Given the description of an element on the screen output the (x, y) to click on. 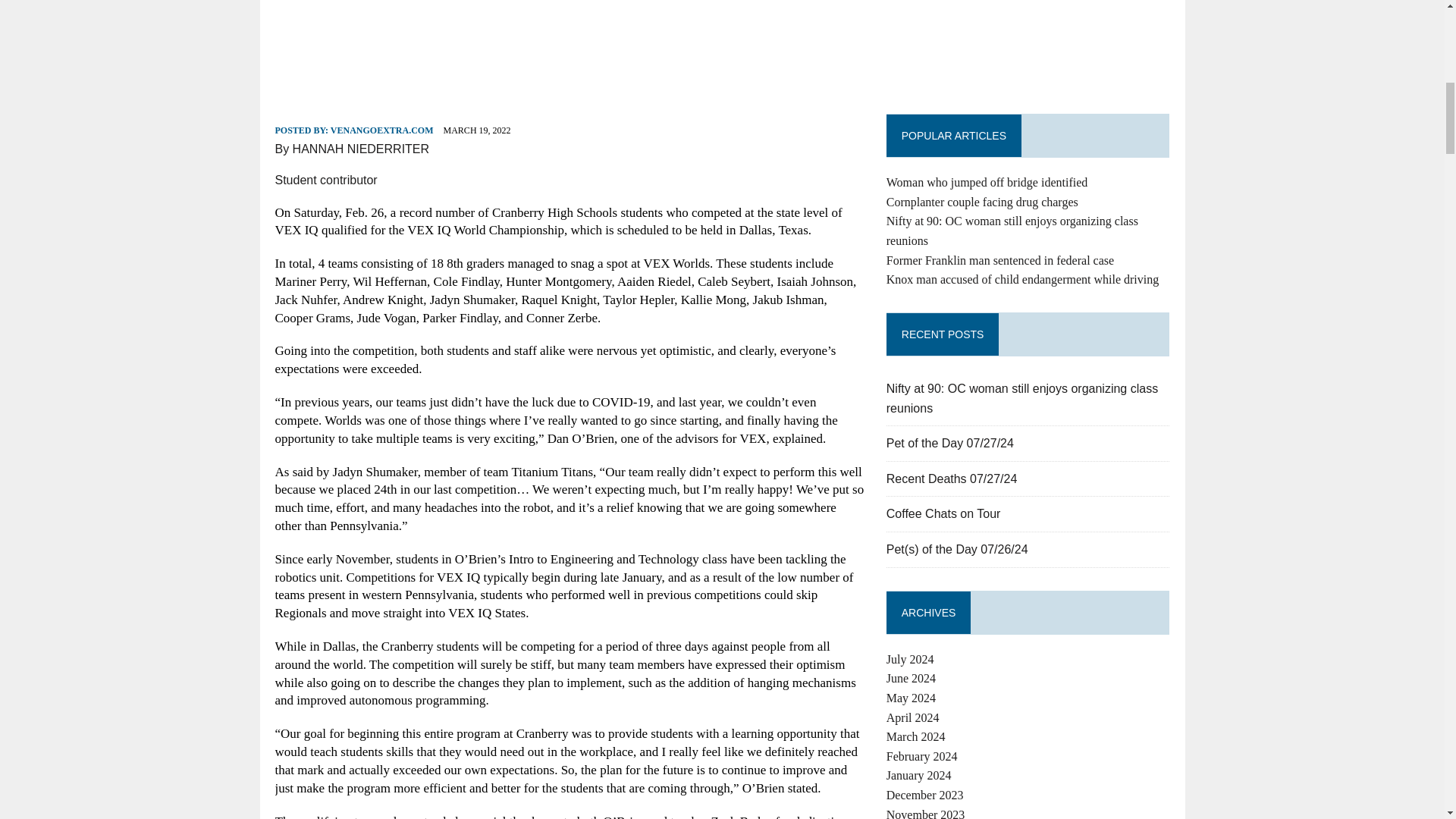
VENANGOEXTRA.COM (381, 130)
